Given the description of an element on the screen output the (x, y) to click on. 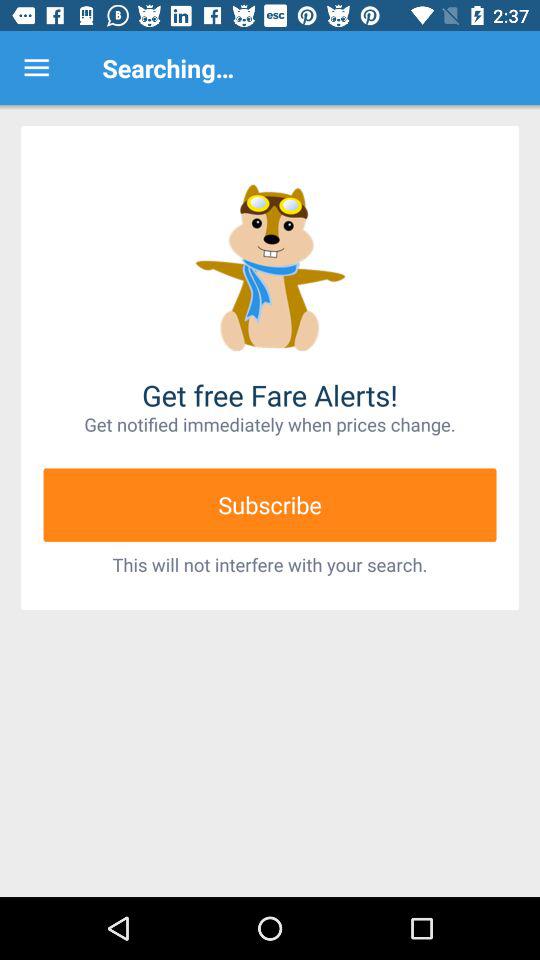
open the icon at the top left corner (36, 68)
